Given the description of an element on the screen output the (x, y) to click on. 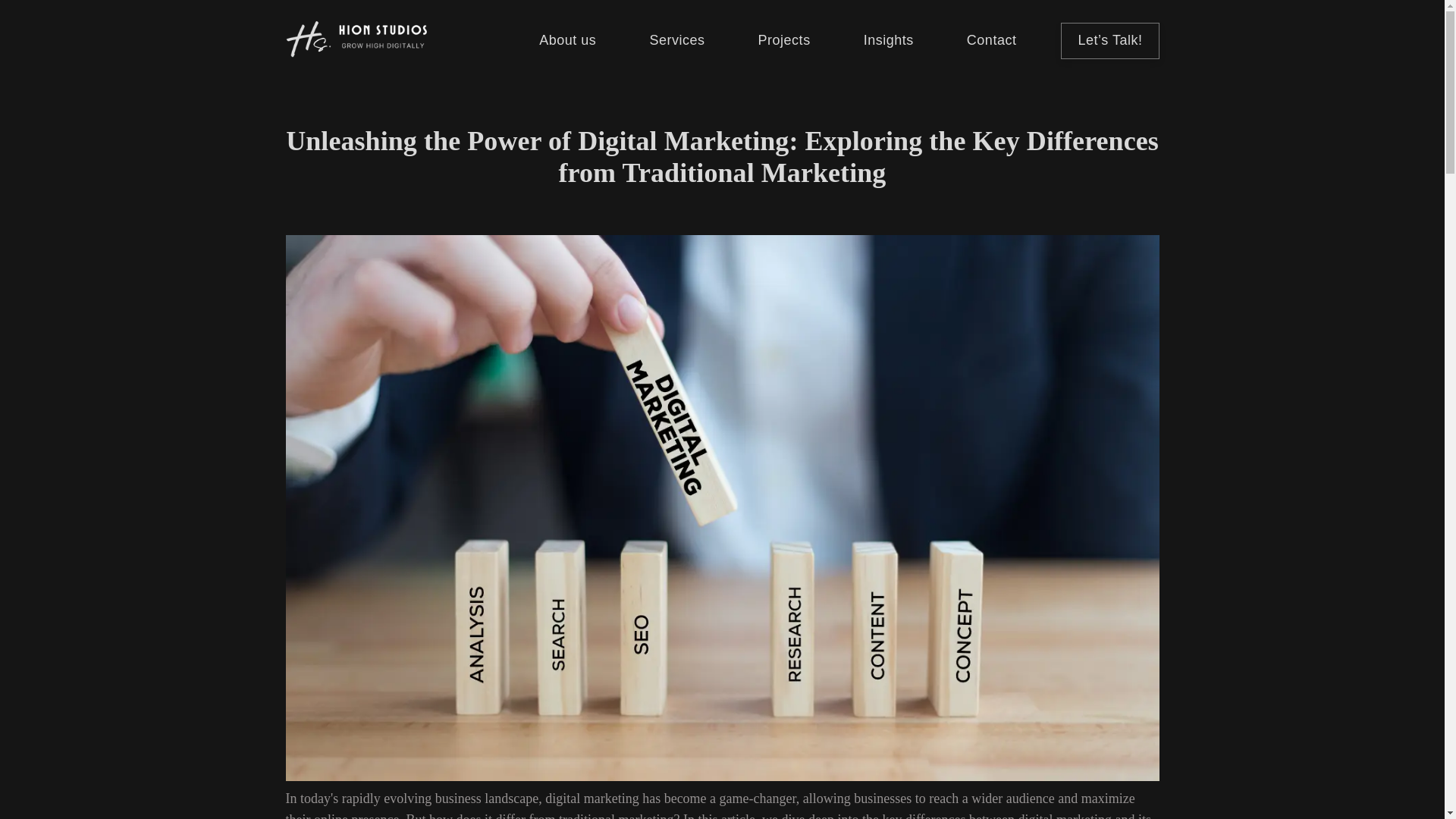
Contact (991, 40)
About us (567, 40)
Insights (888, 40)
Projects (783, 40)
Services (676, 40)
